Given the description of an element on the screen output the (x, y) to click on. 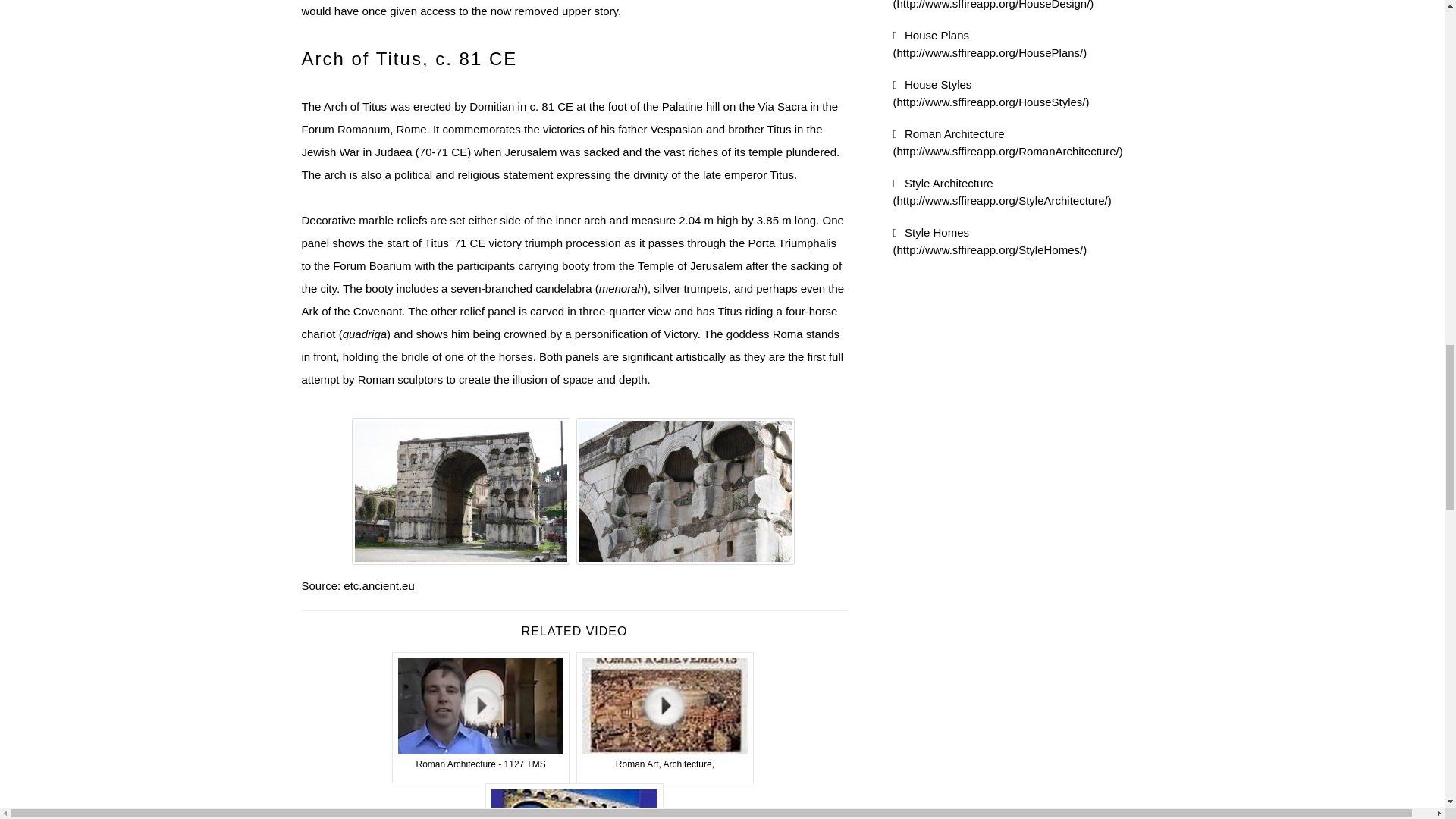
View all posts filed under House Plans (990, 43)
Video temporarily unavailable (573, 800)
View all posts filed under House Styles (991, 92)
View all posts filed under House Design (993, 4)
View this video from YouTube (480, 716)
View all posts filed under Roman Architecture (1007, 142)
View this video from PowerShow.com (665, 716)
